Given the description of an element on the screen output the (x, y) to click on. 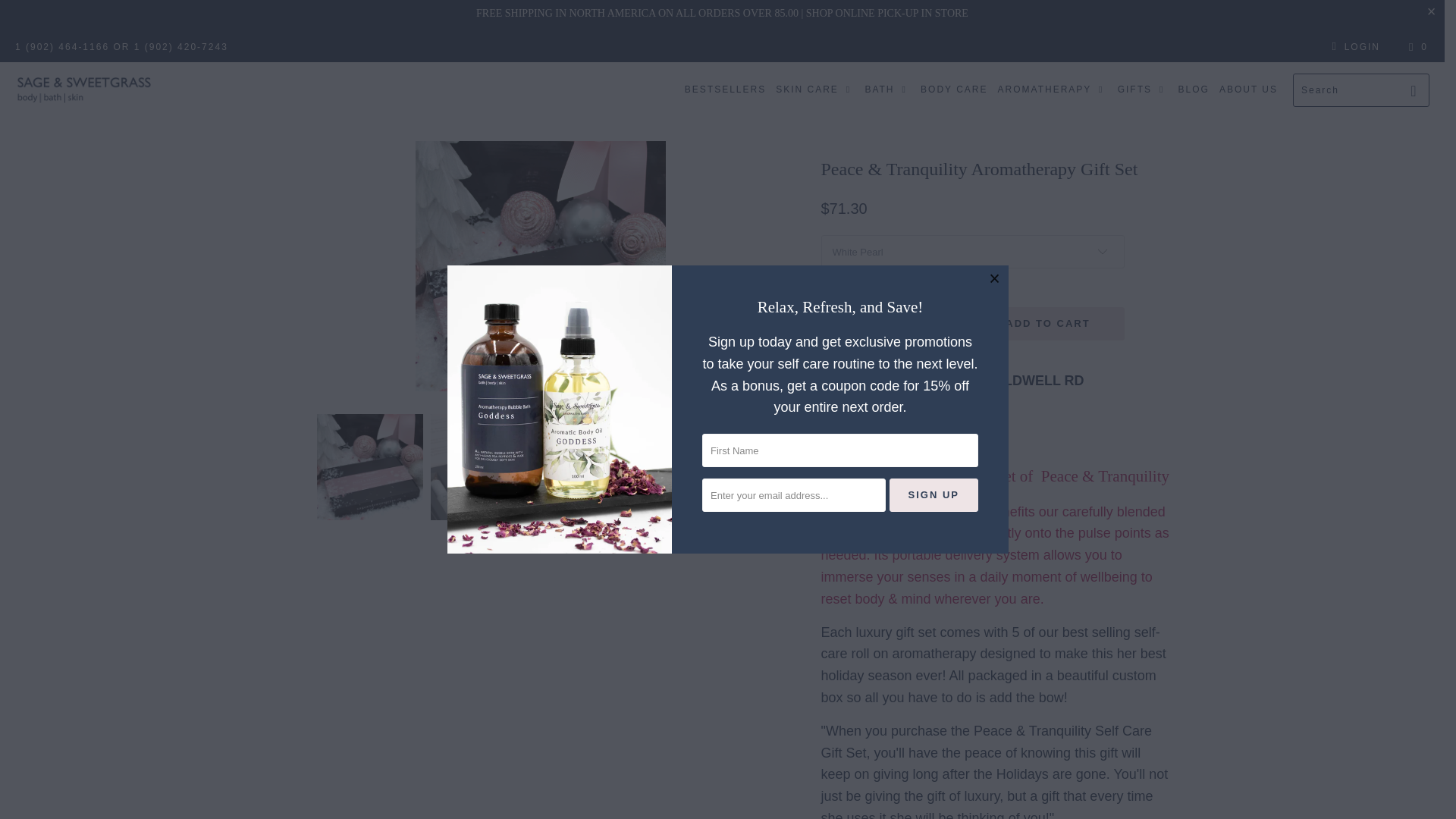
Sign Up (933, 494)
Sage and Sweetgrass (84, 89)
1 (891, 323)
Skincare Gift with Purchase (722, 12)
My Account  (1353, 47)
